Given the description of an element on the screen output the (x, y) to click on. 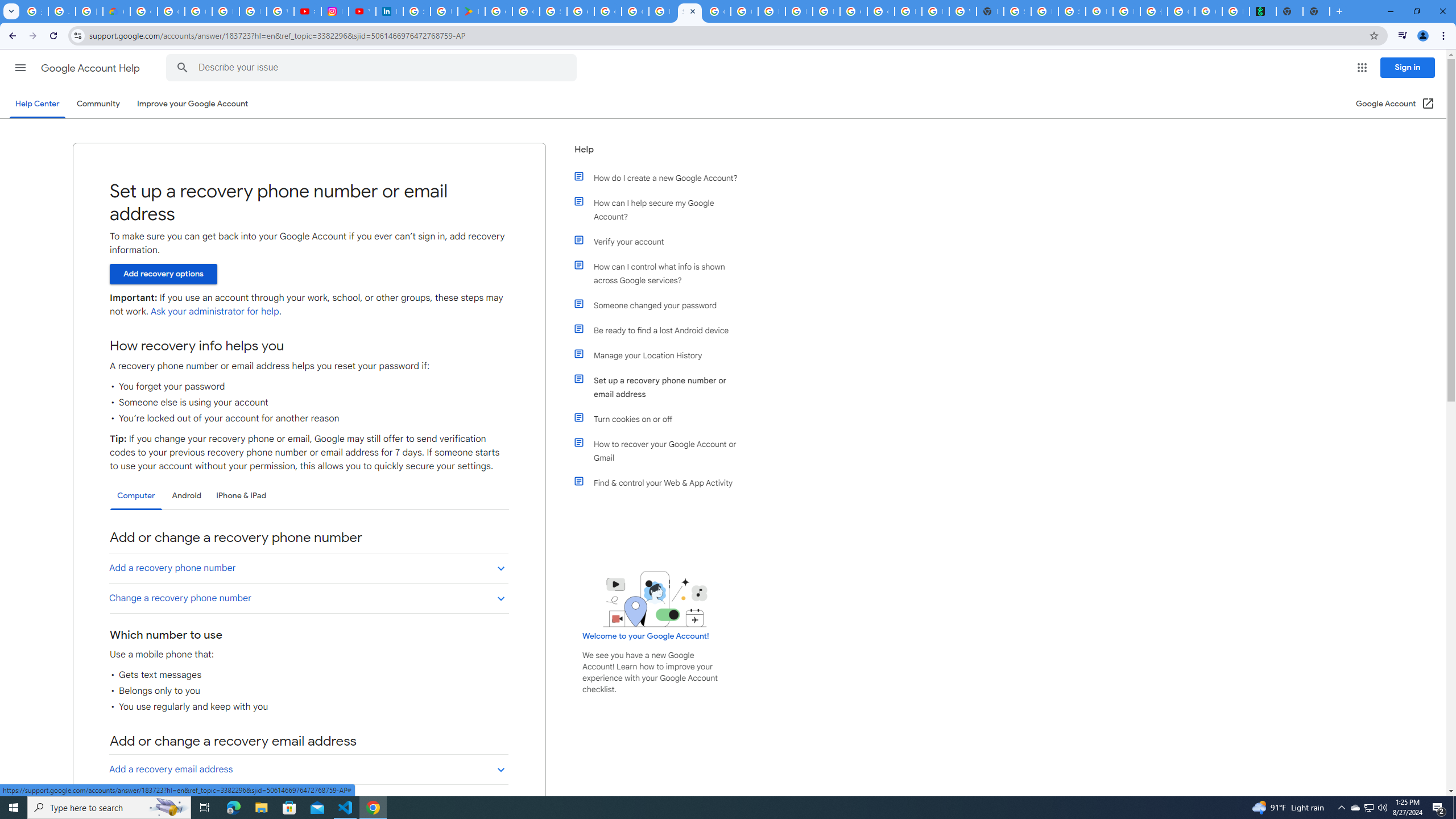
Add a recovery phone number (308, 567)
Google Workspace - Specific Terms (525, 11)
Last Shelter: Survival - Apps on Google Play (471, 11)
How can I help secure my Google Account? (661, 209)
Sign in - Google Accounts (416, 11)
